Given the description of an element on the screen output the (x, y) to click on. 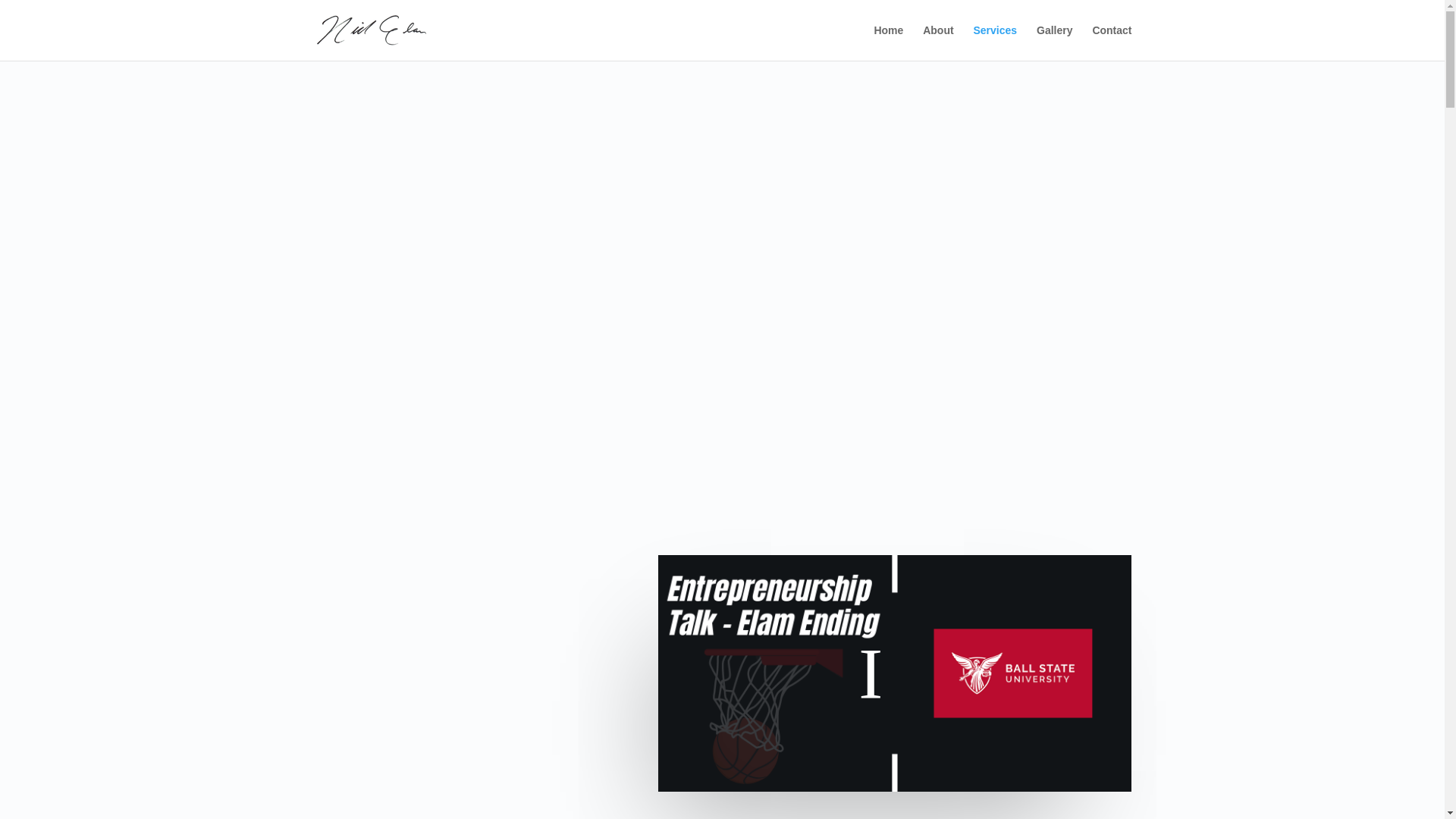
Services (995, 42)
Contact (1111, 42)
Gallery (1053, 42)
